Given the description of an element on the screen output the (x, y) to click on. 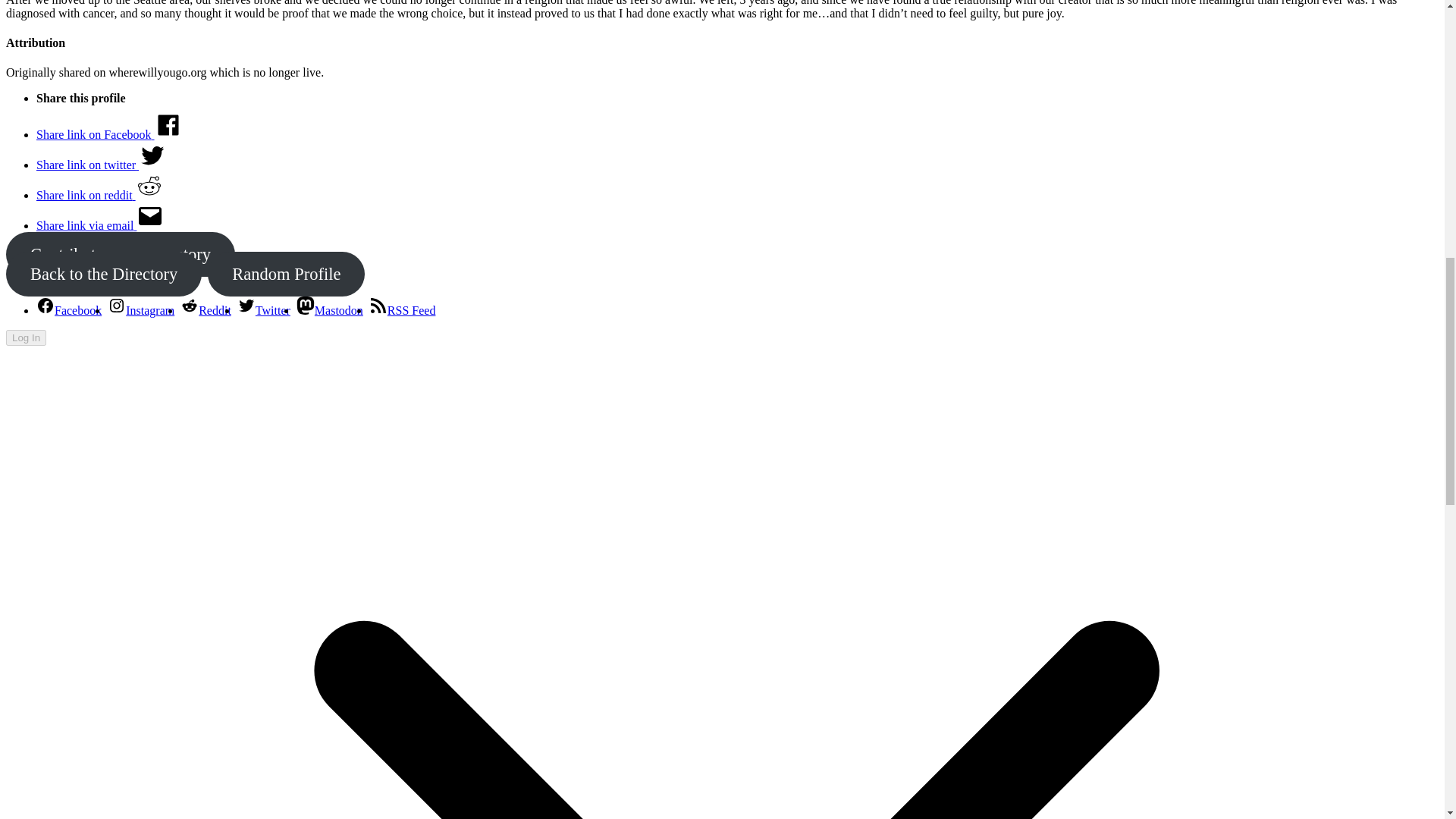
Share link on Facebook (109, 133)
Share a link on twitter (100, 164)
Random Profile (286, 273)
Back to the Directory (103, 273)
Share link on reddit (99, 195)
Share link on reddit (99, 195)
Contribute your own story (119, 253)
Share link via email (99, 225)
Facebook (68, 309)
Share link via email (99, 225)
